Given the description of an element on the screen output the (x, y) to click on. 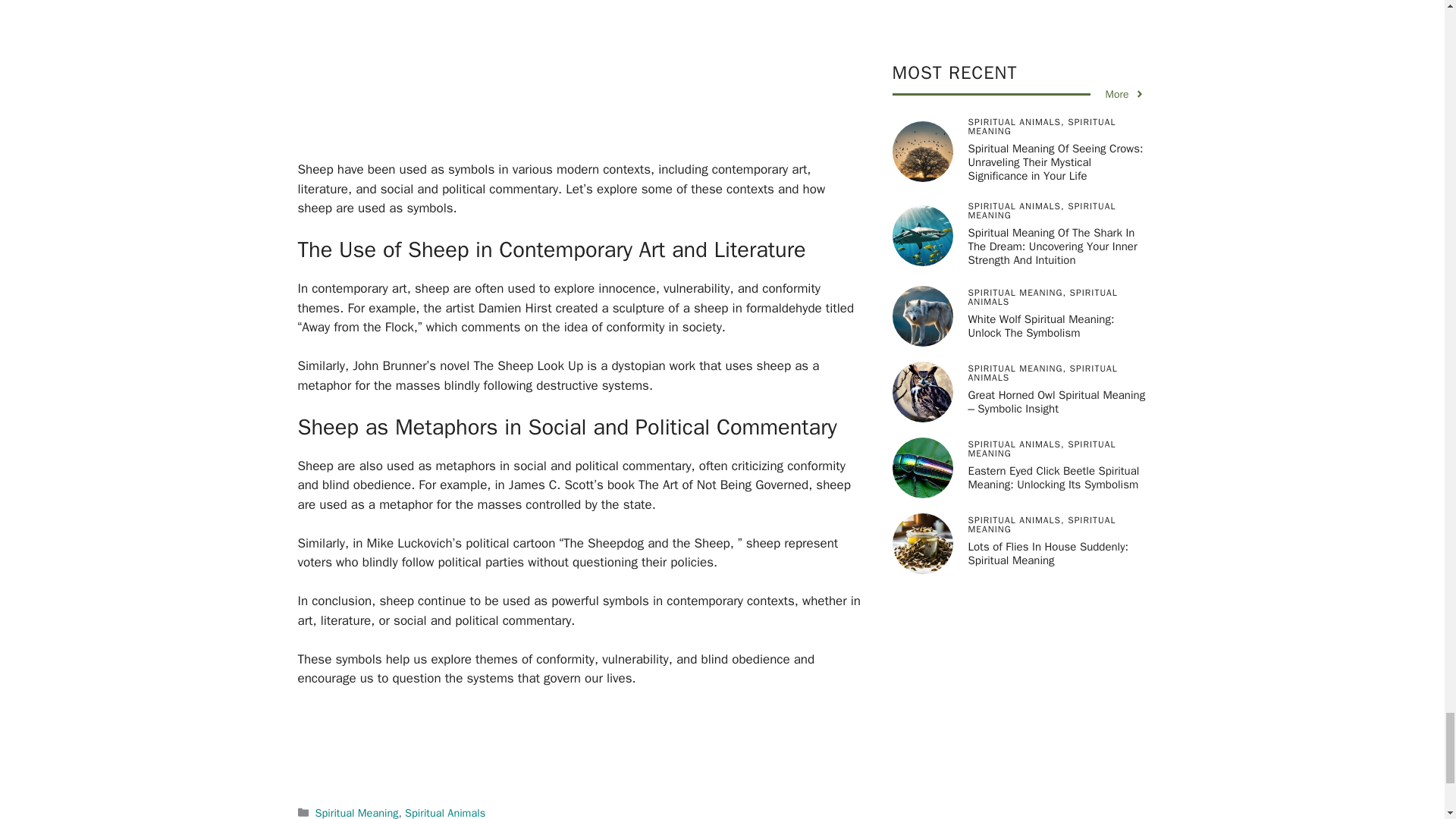
Spiritual Animals (444, 812)
Spiritual Meaning (356, 812)
